Given the description of an element on the screen output the (x, y) to click on. 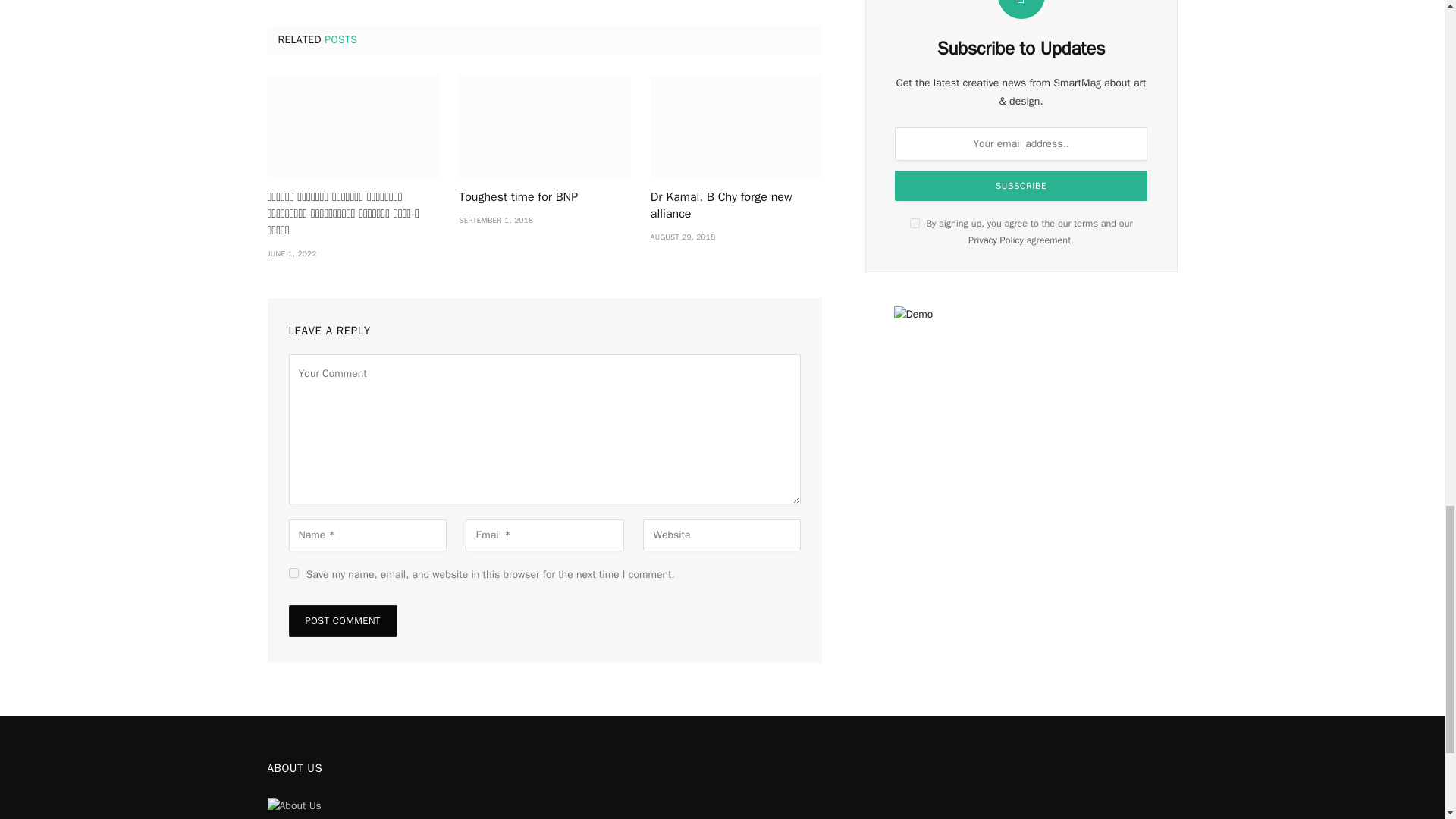
yes (293, 573)
Post Comment (342, 621)
on (915, 223)
Subscribe (1021, 185)
